Given the description of an element on the screen output the (x, y) to click on. 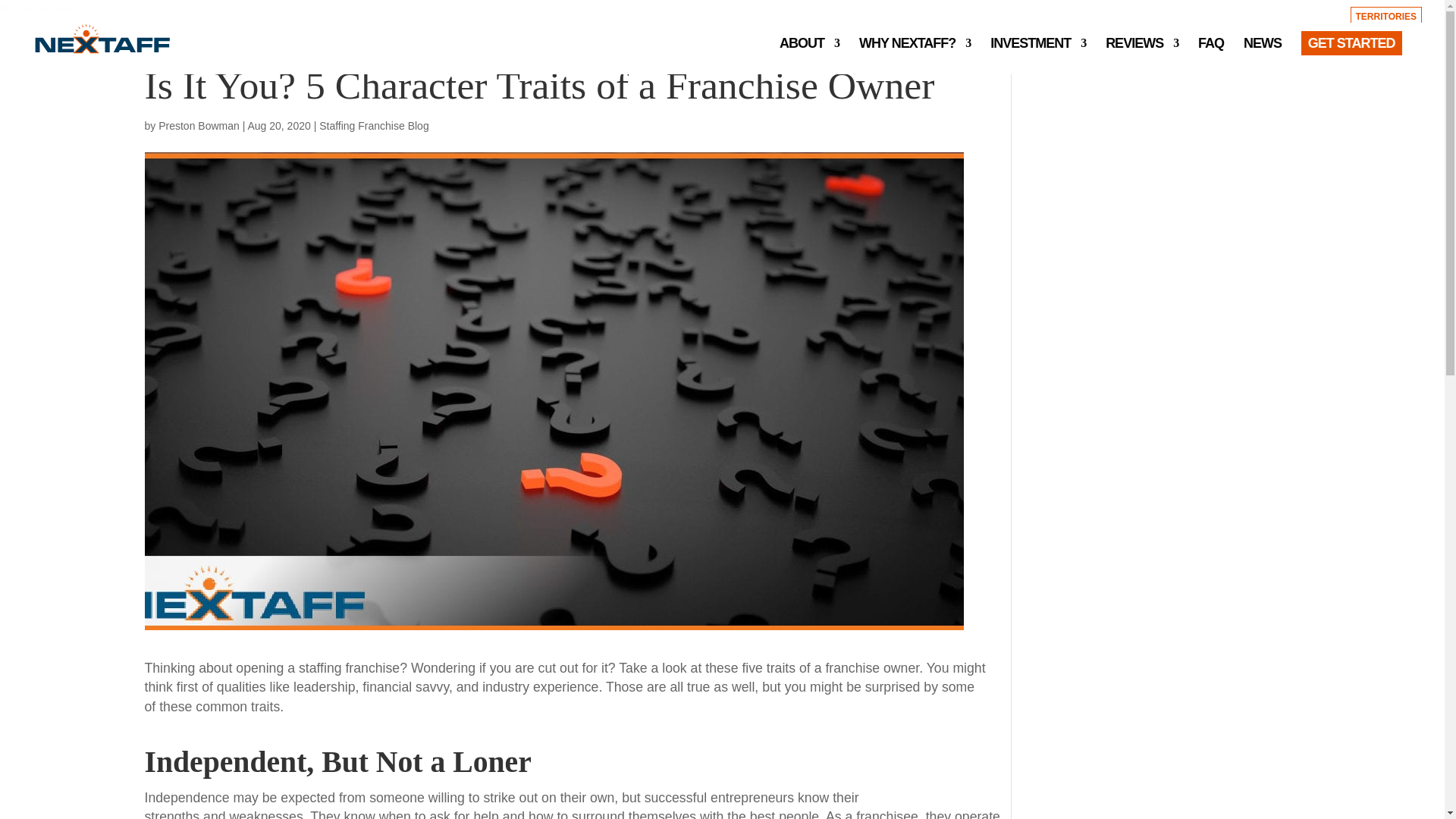
Preston Bowman (199, 125)
INVESTMENT (1038, 52)
WHY NEXTAFF? (915, 52)
GET STARTED (1351, 52)
Posts by Preston Bowman (199, 125)
REVIEWS (1141, 52)
Staffing Franchise Blog (373, 125)
TERRITORIES (1386, 9)
ABOUT (809, 52)
NEWS (1262, 52)
